Given the description of an element on the screen output the (x, y) to click on. 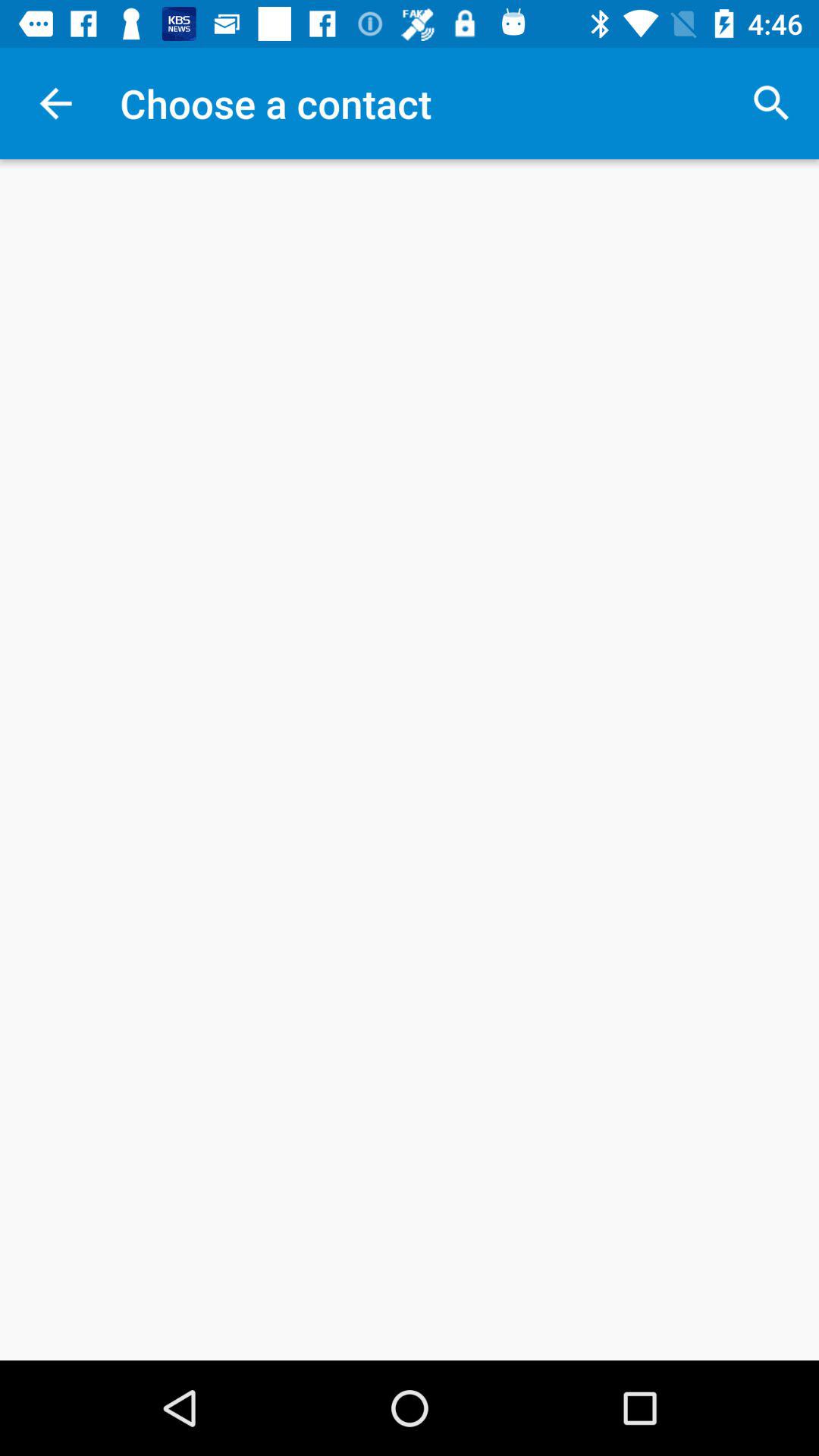
press app next to the choose a contact icon (771, 103)
